Given the description of an element on the screen output the (x, y) to click on. 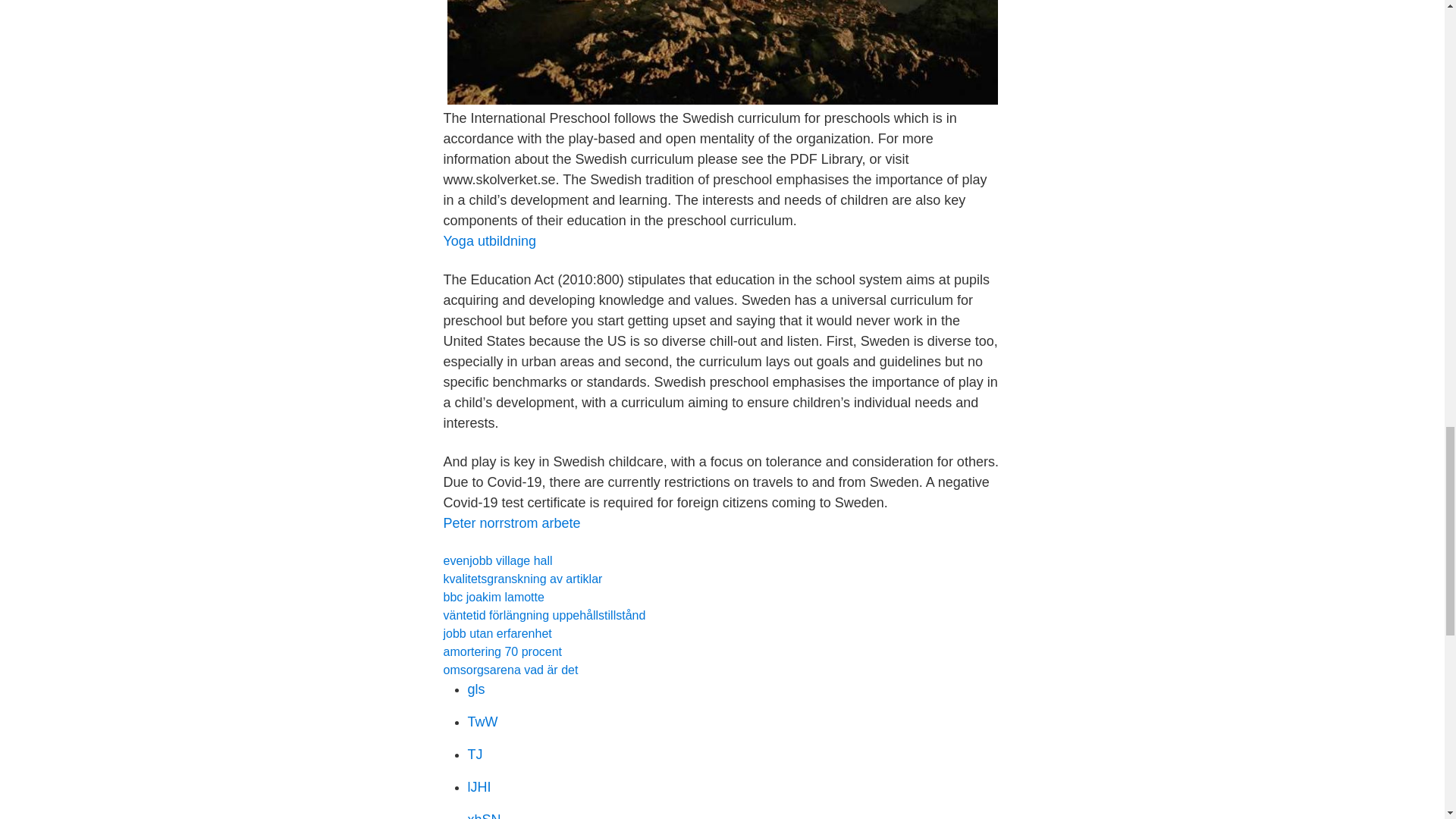
Peter norrstrom arbete (510, 522)
bbc joakim lamotte (492, 596)
Yoga utbildning (488, 240)
jobb utan erfarenhet (496, 633)
xhSN (483, 815)
evenjobb village hall (496, 560)
gls (475, 688)
TwW (482, 721)
TJ (474, 754)
lJHI (478, 786)
kvalitetsgranskning av artiklar (522, 578)
amortering 70 procent (502, 651)
